Given the description of an element on the screen output the (x, y) to click on. 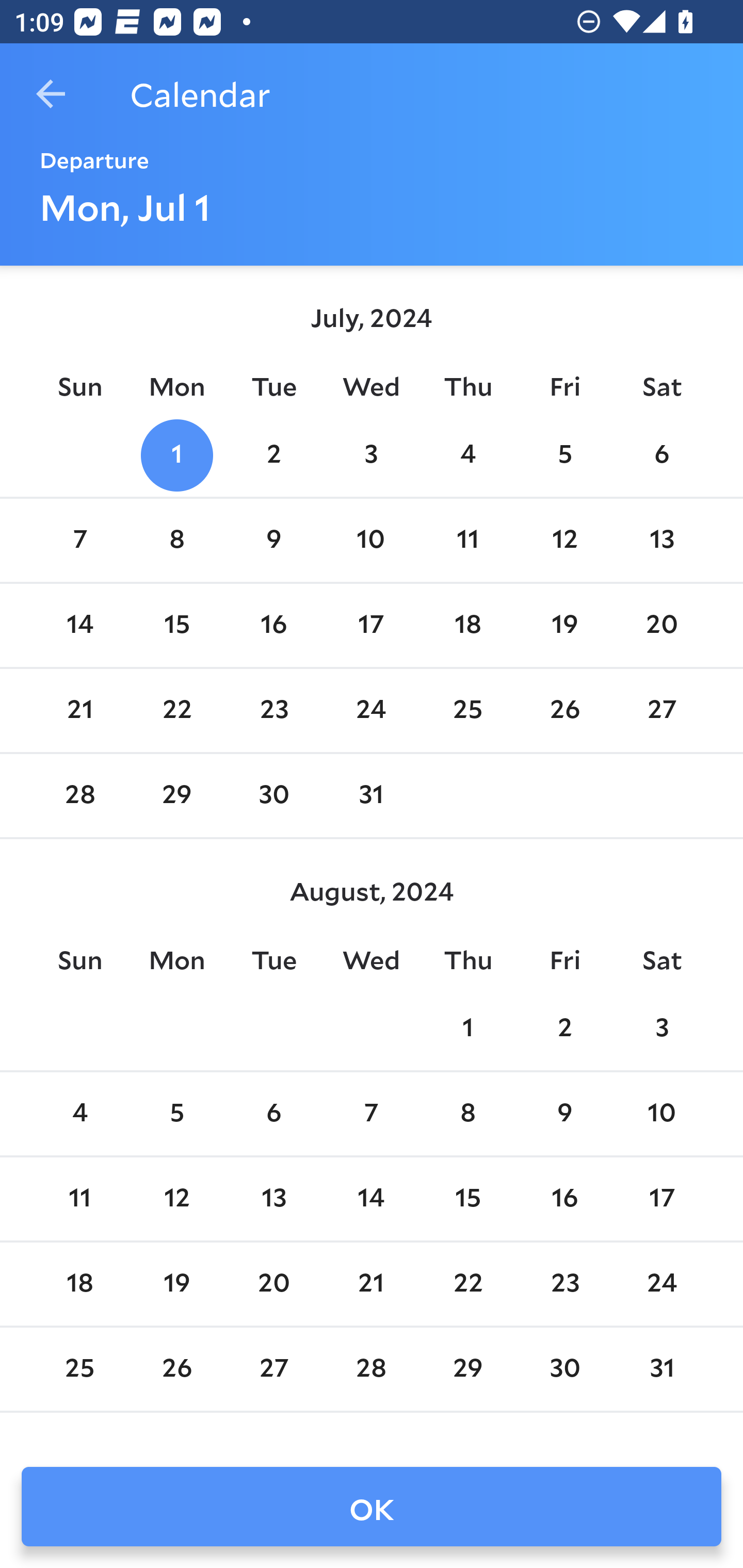
Navigate up (50, 93)
1 (177, 454)
2 (273, 454)
3 (371, 454)
4 (467, 454)
5 (565, 454)
6 (661, 454)
7 (79, 540)
8 (177, 540)
9 (273, 540)
10 (371, 540)
11 (467, 540)
12 (565, 540)
13 (661, 540)
14 (79, 625)
15 (177, 625)
16 (273, 625)
17 (371, 625)
18 (467, 625)
19 (565, 625)
20 (661, 625)
21 (79, 710)
22 (177, 710)
23 (273, 710)
24 (371, 710)
25 (467, 710)
26 (565, 710)
27 (661, 710)
28 (79, 796)
29 (177, 796)
30 (273, 796)
31 (371, 796)
1 (467, 1028)
2 (565, 1028)
3 (661, 1028)
4 (79, 1114)
5 (177, 1114)
6 (273, 1114)
7 (371, 1114)
8 (467, 1114)
9 (565, 1114)
10 (661, 1114)
11 (79, 1199)
12 (177, 1199)
13 (273, 1199)
14 (371, 1199)
15 (467, 1199)
16 (565, 1199)
17 (661, 1199)
18 (79, 1284)
19 (177, 1284)
20 (273, 1284)
21 (371, 1284)
22 (467, 1284)
23 (565, 1284)
24 (661, 1284)
25 (79, 1368)
26 (177, 1368)
27 (273, 1368)
28 (371, 1368)
29 (467, 1368)
30 (565, 1368)
31 (661, 1368)
OK (371, 1506)
